Given the description of an element on the screen output the (x, y) to click on. 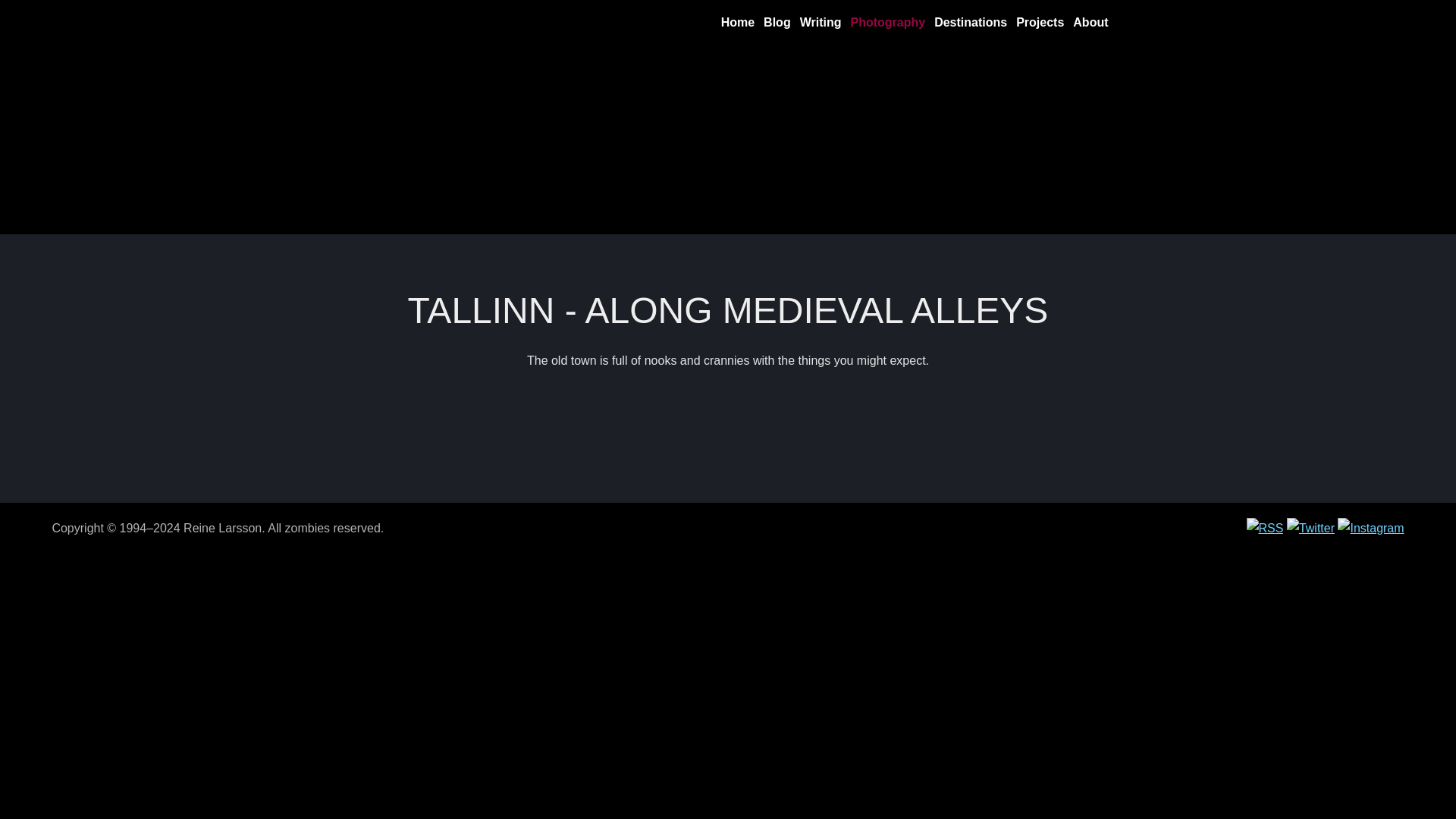
Mink Machine (417, 22)
Destinations (970, 22)
Start page (417, 22)
Projects (1039, 22)
Blog (776, 22)
Writing (819, 22)
Home (737, 22)
Photography (887, 22)
About (1090, 22)
